Given the description of an element on the screen output the (x, y) to click on. 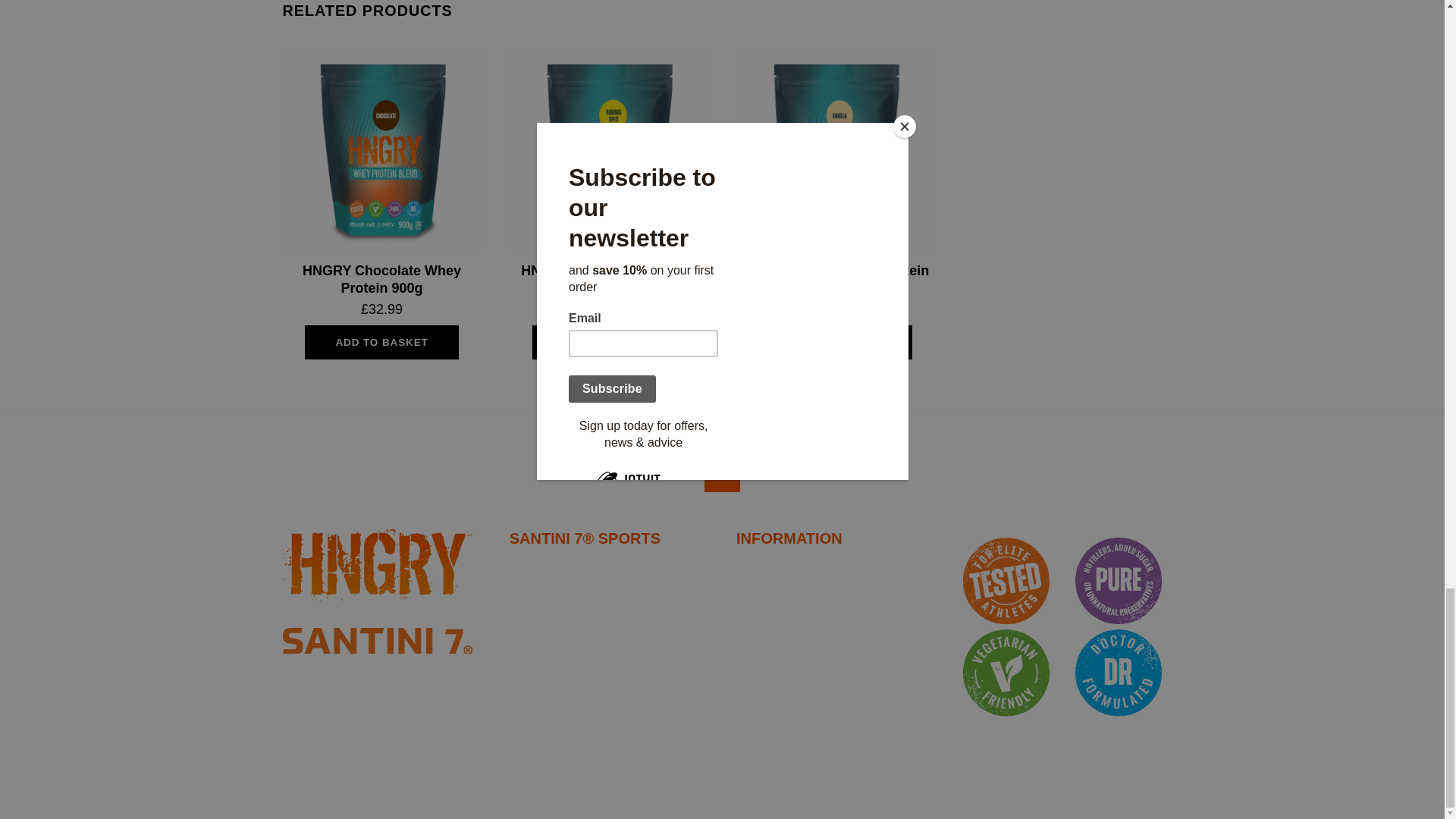
ADD TO BASKET (608, 342)
ADD TO BASKET (381, 342)
hngry banana split whey protein front 900g (608, 148)
HNGRY Banana Split Whey Protein 900g (608, 278)
HNGRY Chocolate Whey Protein 900g (381, 278)
hngry chocolate whey protein front 900g (381, 148)
HNGRY Vanilla Whey Protein 900g (835, 278)
hngry vanilla whey protein front 900g (835, 148)
